Given the description of an element on the screen output the (x, y) to click on. 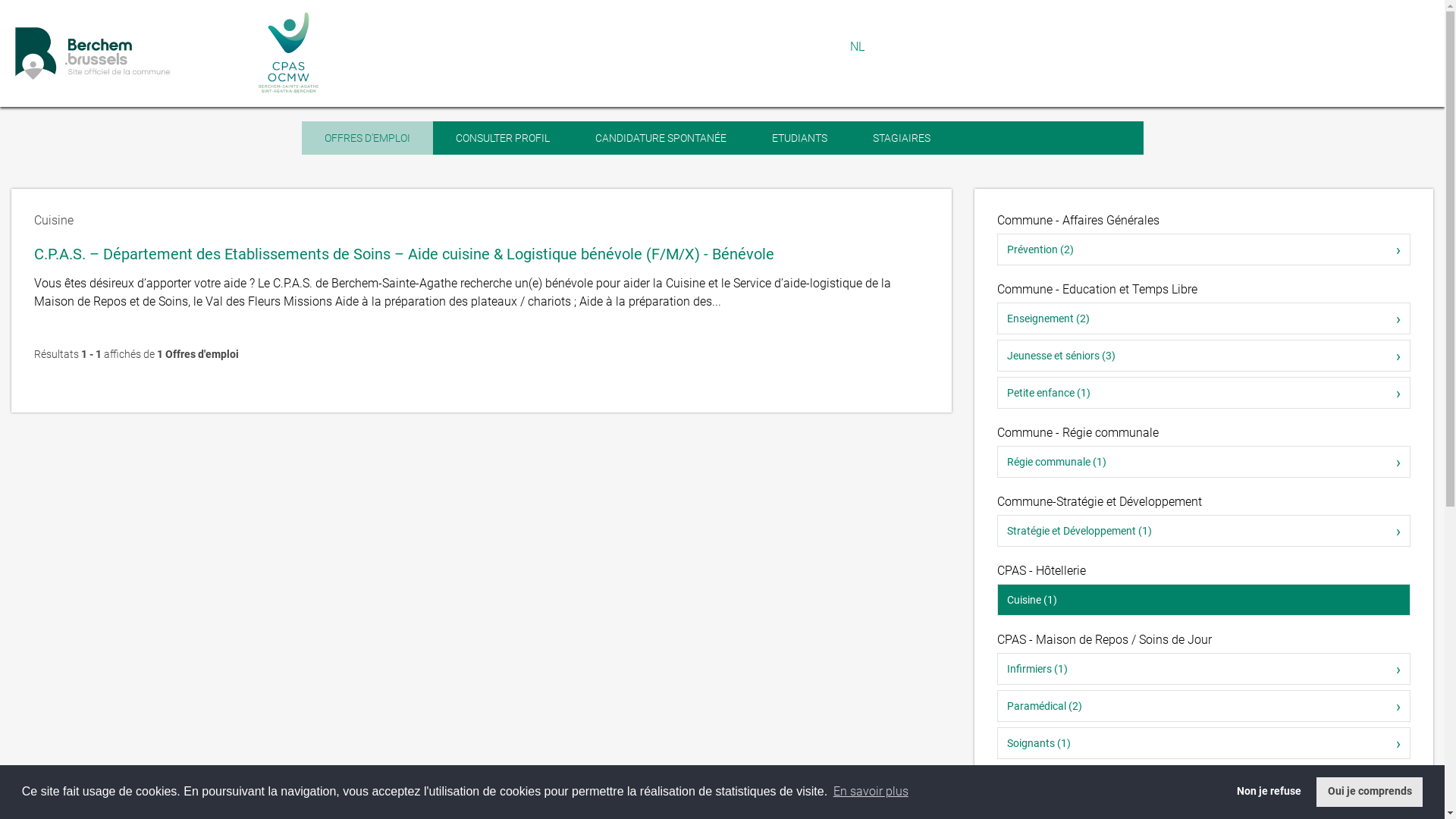
Etudiants et stagiaires Element type: text (1056, 782)
STAGIAIRES Element type: text (900, 137)
CONSULTER PROFIL Element type: text (501, 137)
Infirmiers (1) Element type: text (1203, 668)
Soignants (1) Element type: text (1203, 743)
En savoir plus Element type: text (870, 791)
1 Offres d'emploi Element type: text (197, 354)
Commune - Education et Temps Libre Element type: text (1097, 289)
NL Element type: text (857, 46)
Oui je comprends Element type: text (1369, 791)
Retour vers le site de la commune Berchem-Sainte-Agathe Element type: hover (126, 52)
Non je refuse Element type: text (1268, 791)
Enseignement (2) Element type: text (1203, 318)
Petite enfance (1) Element type: text (1203, 392)
Retour vers le site du CPAS de Berchem-Sainte-Agathe Element type: hover (288, 52)
CPAS - Maison de Repos / Soins de Jour Element type: text (1104, 639)
OFFRES D'EMPLOI Element type: text (367, 137)
ETUDIANTS Element type: text (799, 137)
